Given the description of an element on the screen output the (x, y) to click on. 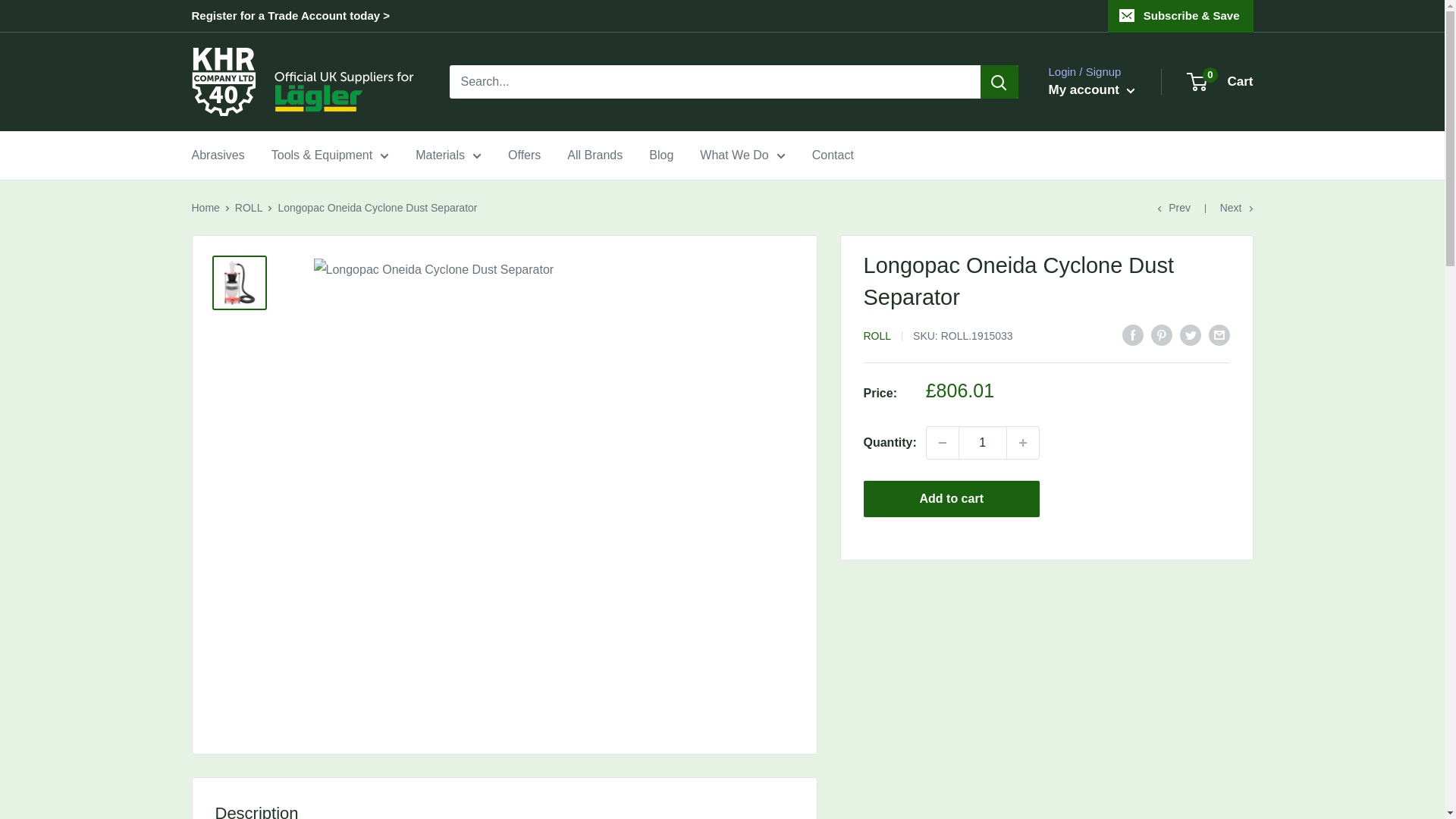
Decrease quantity by 1 (942, 442)
1 (982, 442)
Increase quantity by 1 (1023, 442)
